Given the description of an element on the screen output the (x, y) to click on. 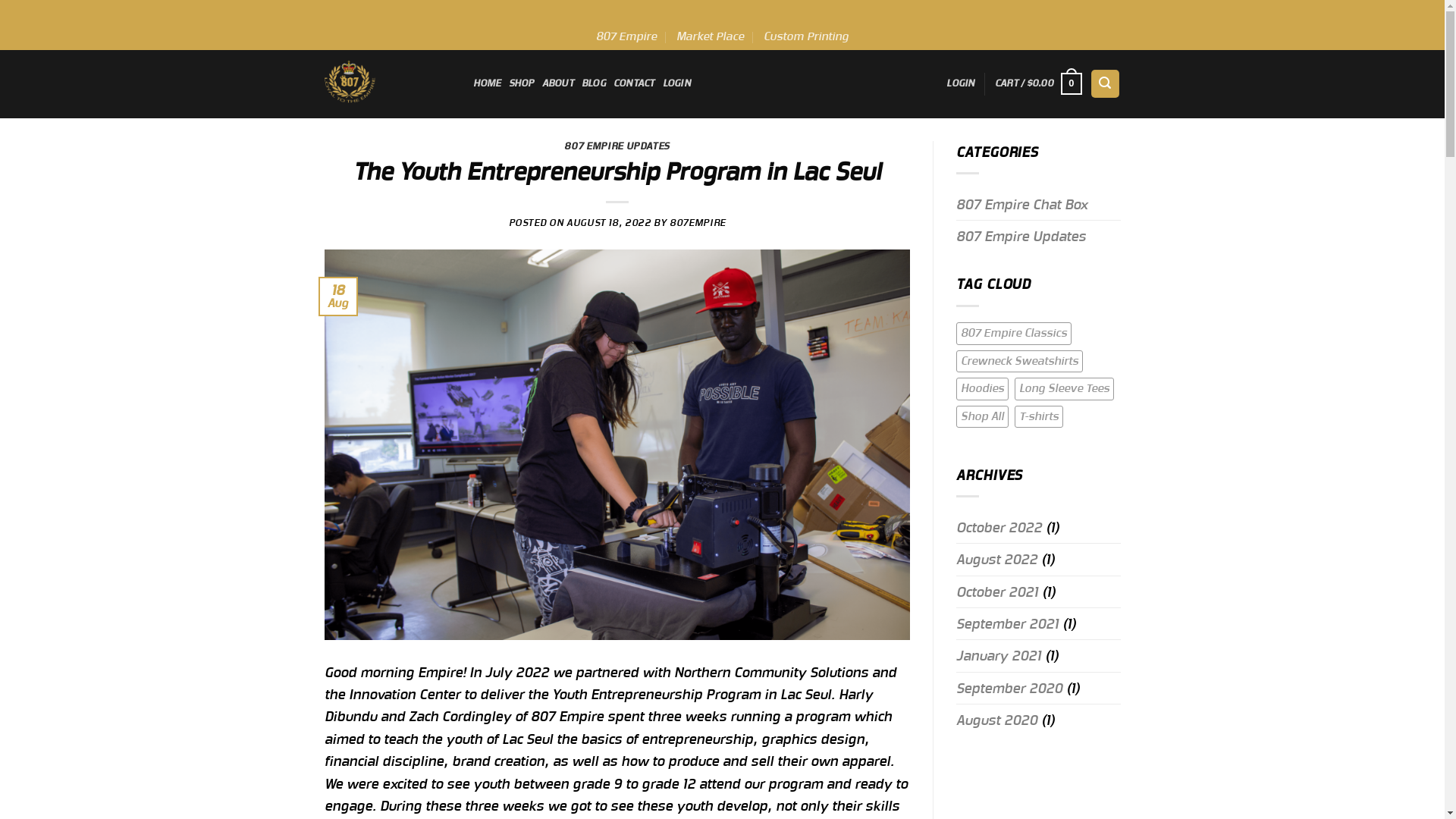
ABOUT Element type: text (558, 83)
807 Empire - 807 Empire  Element type: hover (387, 84)
SHOP Element type: text (521, 83)
807 Empire Classics Element type: text (1013, 333)
BLOG Element type: text (593, 83)
T-shirts Element type: text (1038, 416)
Hoodies Element type: text (982, 388)
LOGIN Element type: text (676, 83)
AUGUST 18, 2022 Element type: text (608, 222)
September 2020 Element type: text (1009, 687)
September 2021 Element type: text (1007, 623)
807 Empire Element type: text (626, 37)
LOGIN Element type: text (960, 83)
CART / $0.00
0 Element type: text (1038, 83)
October 2022 Element type: text (998, 526)
August 2022 Element type: text (996, 558)
HOME Element type: text (487, 83)
Long Sleeve Tees Element type: text (1063, 388)
807EMPIRE Element type: text (697, 222)
October 2021 Element type: text (997, 591)
CONTACT Element type: text (634, 83)
Shop All Element type: text (982, 416)
807 EMPIRE UPDATES Element type: text (616, 145)
August 2020 Element type: text (996, 719)
January 2021 Element type: text (998, 655)
807 Empire Chat Box Element type: text (1021, 203)
Crewneck Sweatshirts Element type: text (1019, 361)
807 Empire Updates Element type: text (1020, 235)
Market Place Element type: text (709, 37)
Custom Printing Element type: text (805, 37)
